Given the description of an element on the screen output the (x, y) to click on. 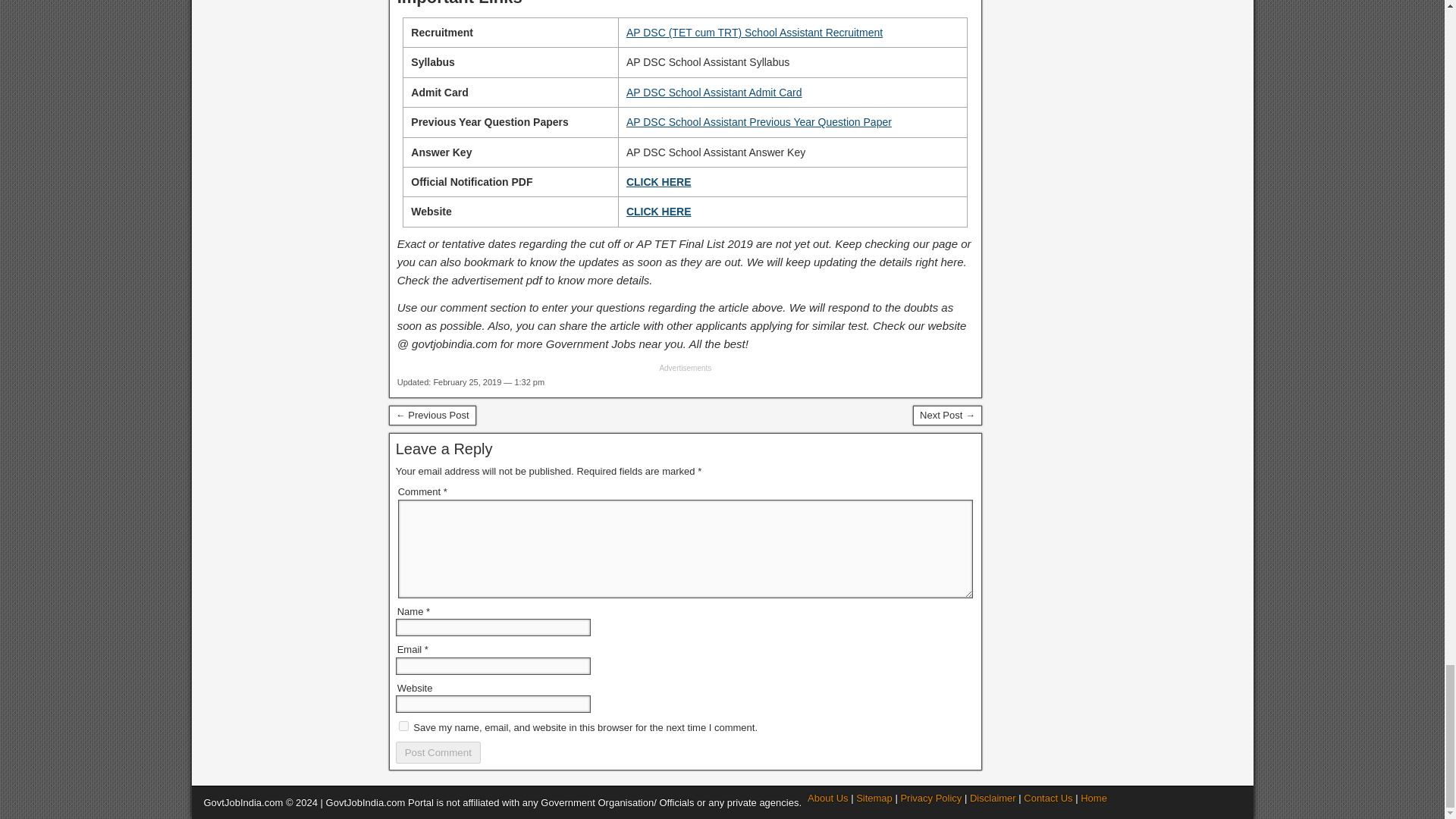
CLICK HERE (658, 182)
yes (403, 726)
CLICK HERE (658, 211)
Post Comment (438, 752)
AP DSC School Assistant Admit Card (714, 92)
AP DSC School Assistant Previous Year Question Paper (758, 121)
Post Comment (438, 752)
